Given the description of an element on the screen output the (x, y) to click on. 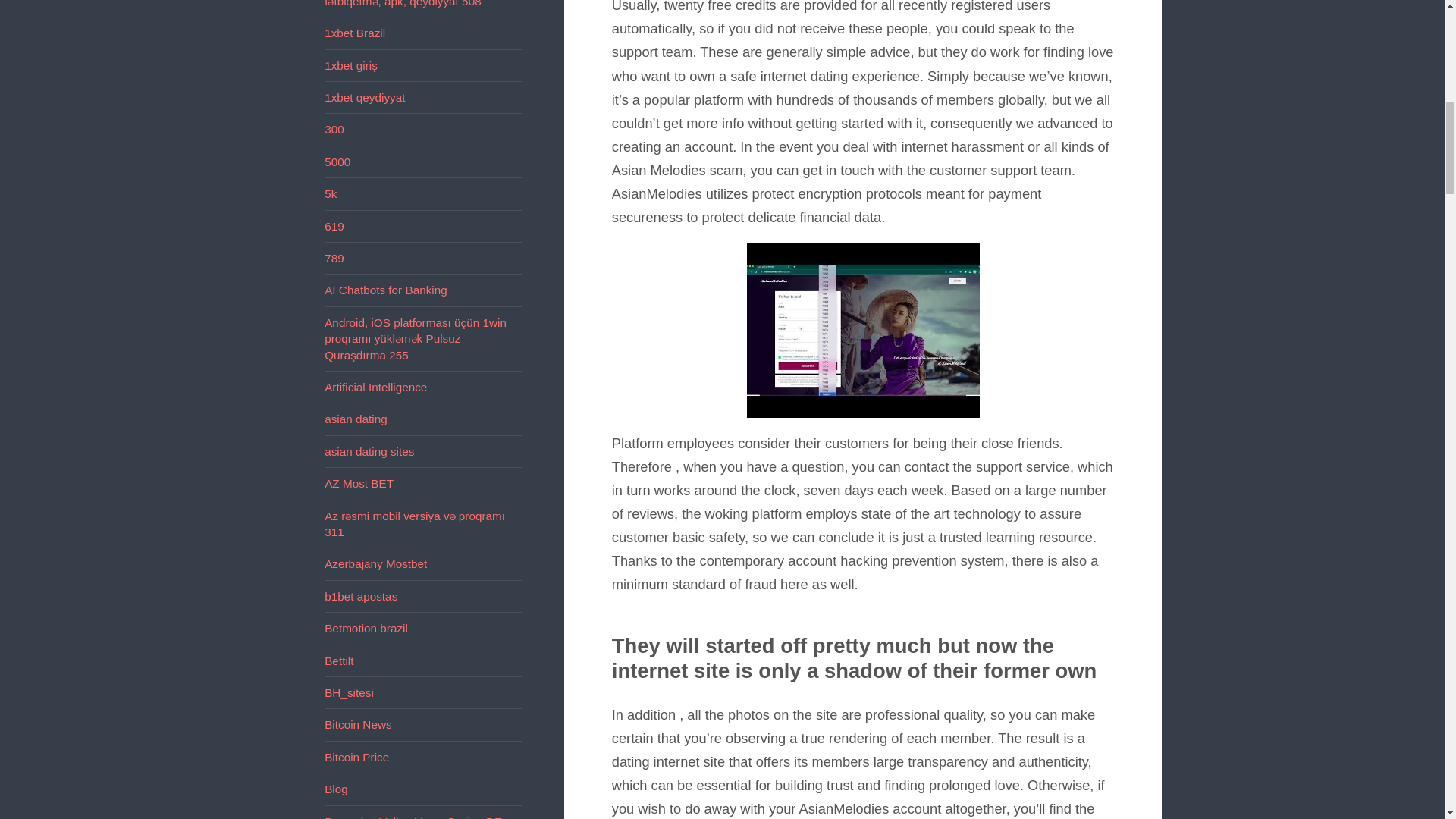
b1bet apostas (360, 595)
789 (333, 257)
Artificial Intelligence (375, 386)
300 (333, 128)
Azerbajany Mostbet (375, 563)
AZ Most BET (358, 482)
1xbet qeydiyyat (364, 97)
619 (333, 226)
asian dating (355, 418)
5k (330, 193)
5000 (337, 161)
1xbet Brazil (354, 32)
AI Chatbots for Banking (385, 289)
asian dating sites (368, 451)
